Given the description of an element on the screen output the (x, y) to click on. 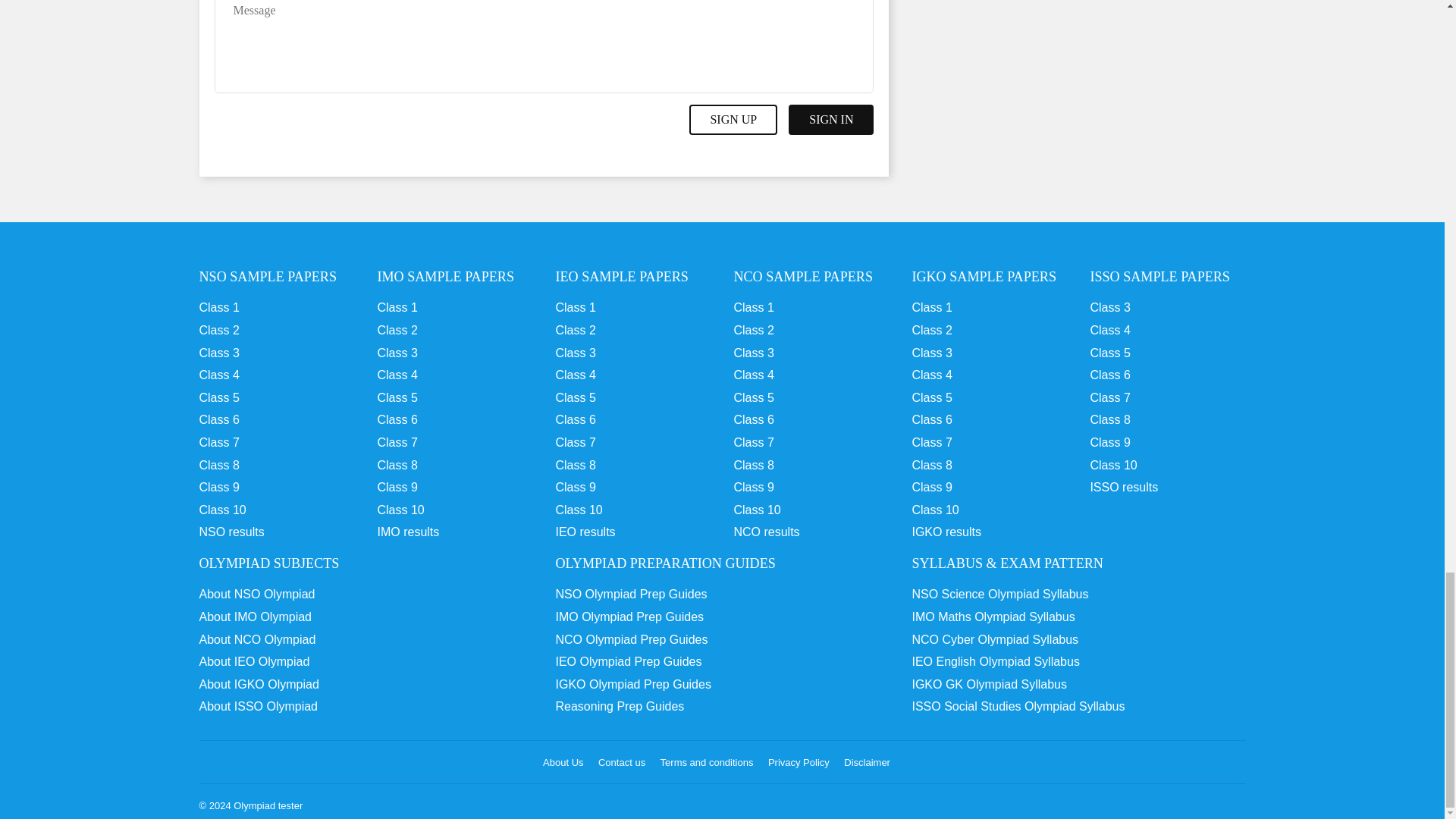
Sign Up (732, 119)
Sign In (831, 119)
